Given the description of an element on the screen output the (x, y) to click on. 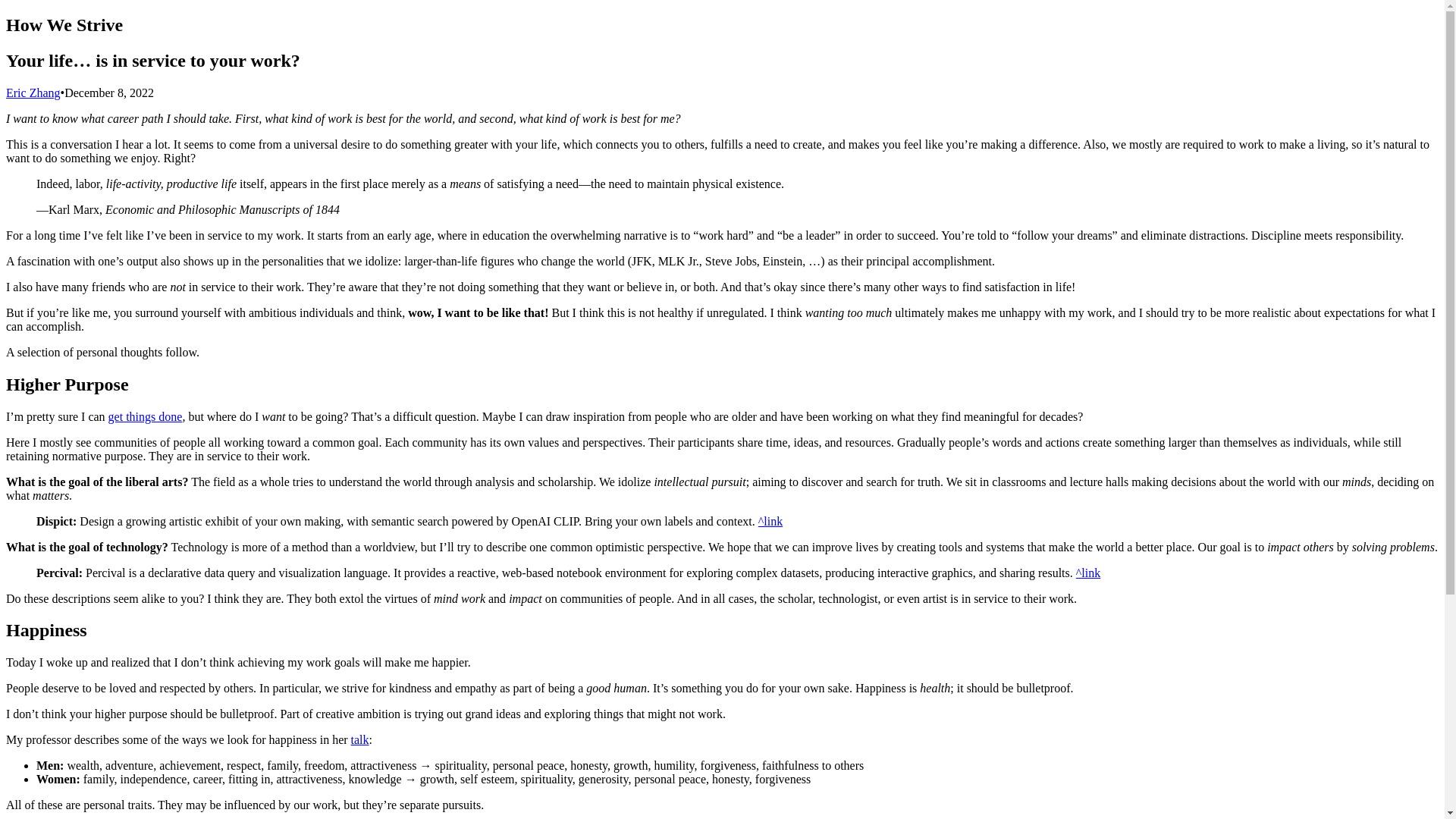
talk (359, 739)
get things done (145, 416)
Eric Zhang (33, 92)
